Given the description of an element on the screen output the (x, y) to click on. 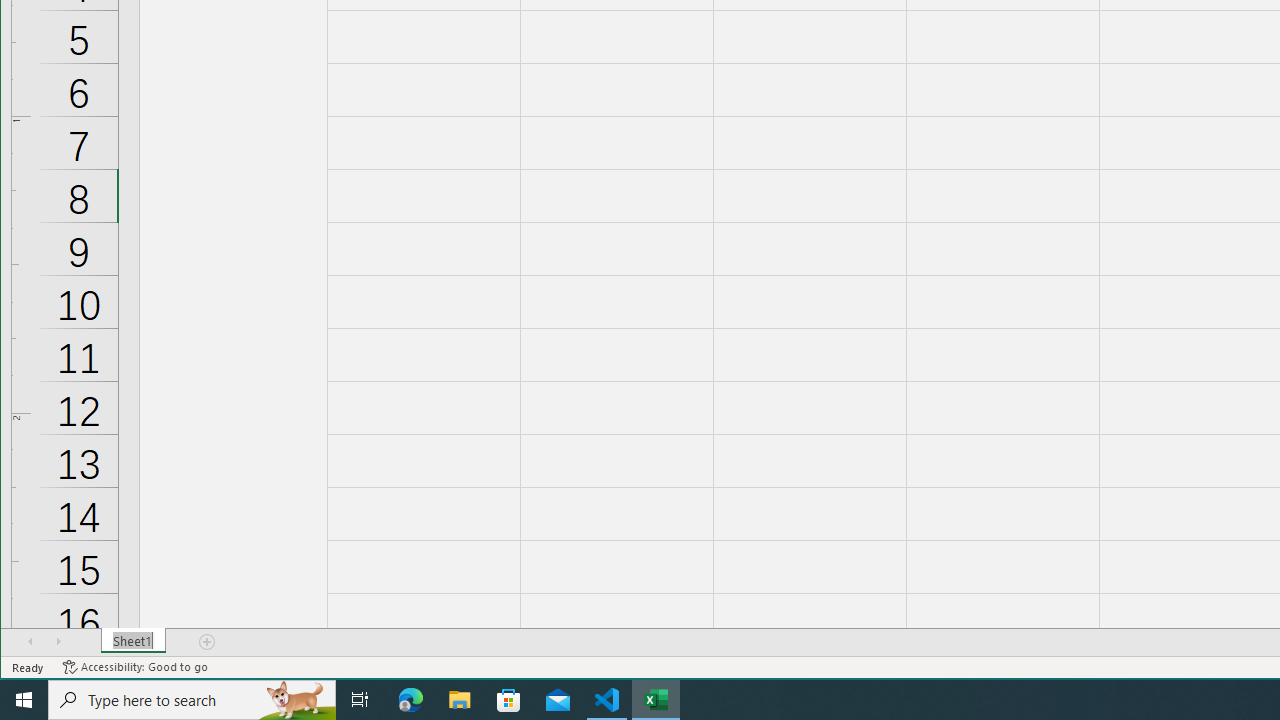
Excel - 1 running window (656, 699)
